Given the description of an element on the screen output the (x, y) to click on. 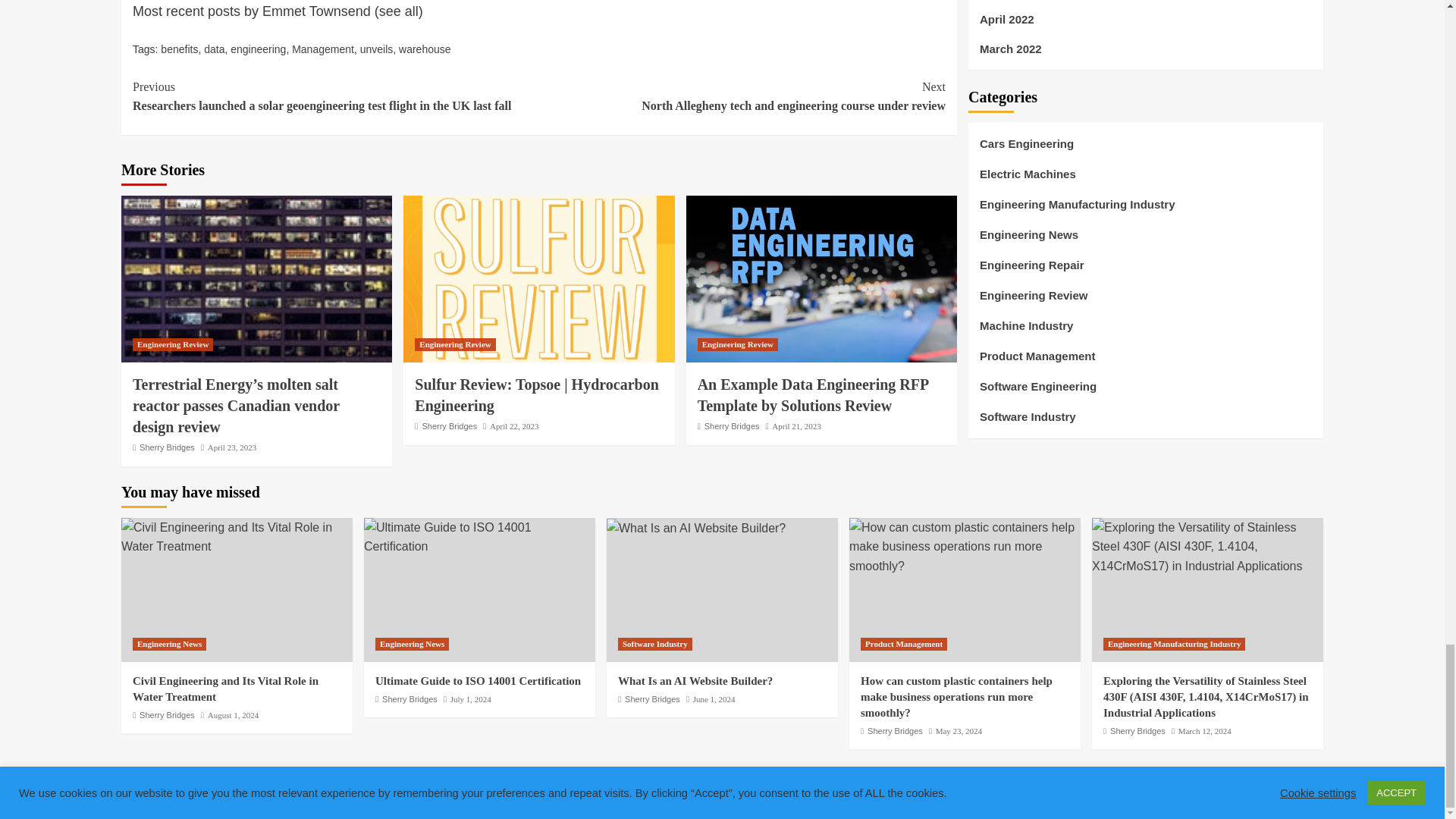
Sherry Bridges (167, 447)
Engineering Review (454, 344)
benefits (179, 49)
April 23, 2023 (232, 447)
Management (322, 49)
What Is an AI Website Builder? (696, 528)
Ultimate Guide to ISO 14001 Certification (479, 536)
unveils (376, 49)
engineering (257, 49)
An Example Data Engineering RFP Template by Solutions Review (820, 278)
data (213, 49)
Engineering Review (172, 344)
